Given the description of an element on the screen output the (x, y) to click on. 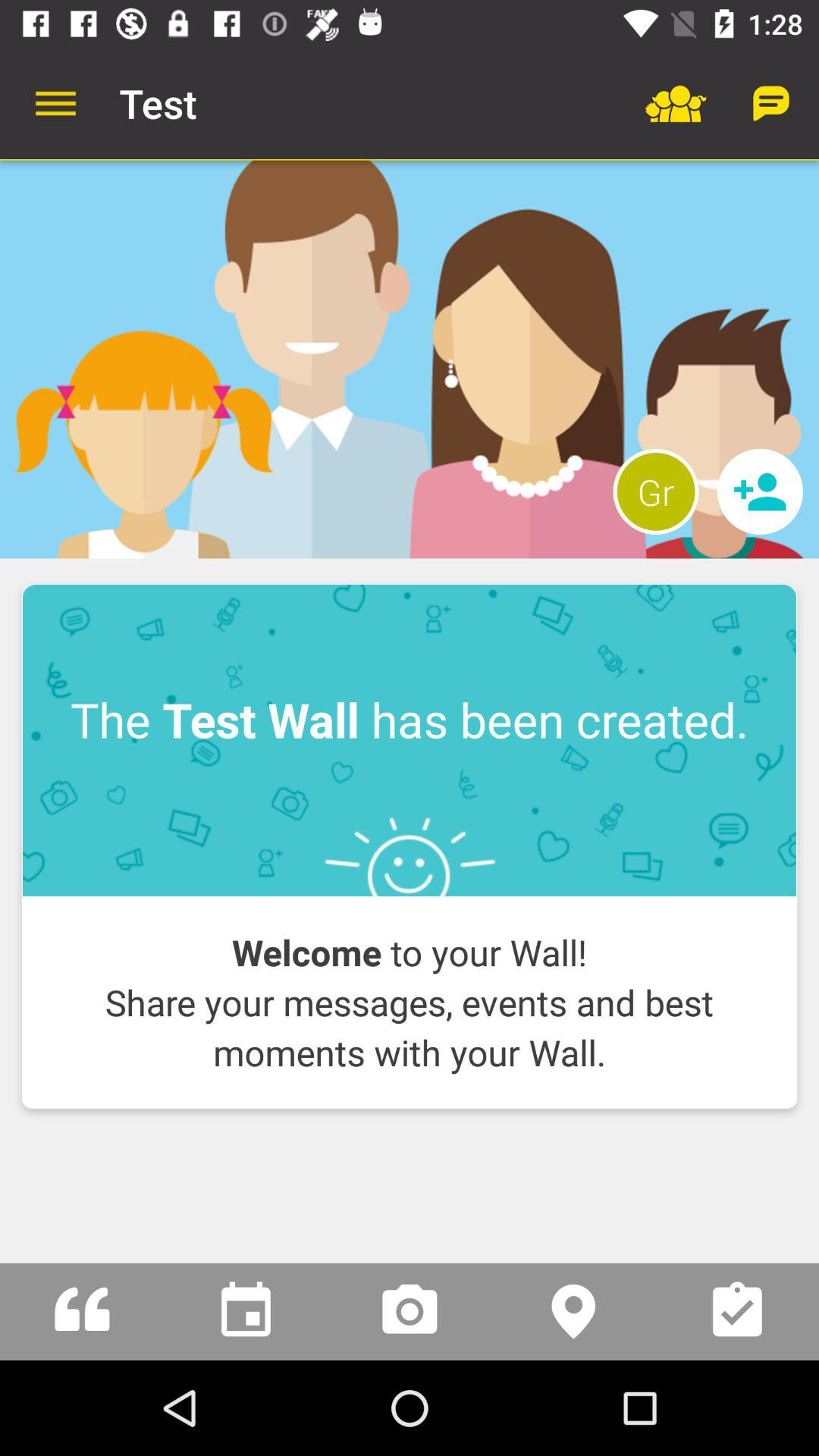
flip until the test wall (409, 740)
